Given the description of an element on the screen output the (x, y) to click on. 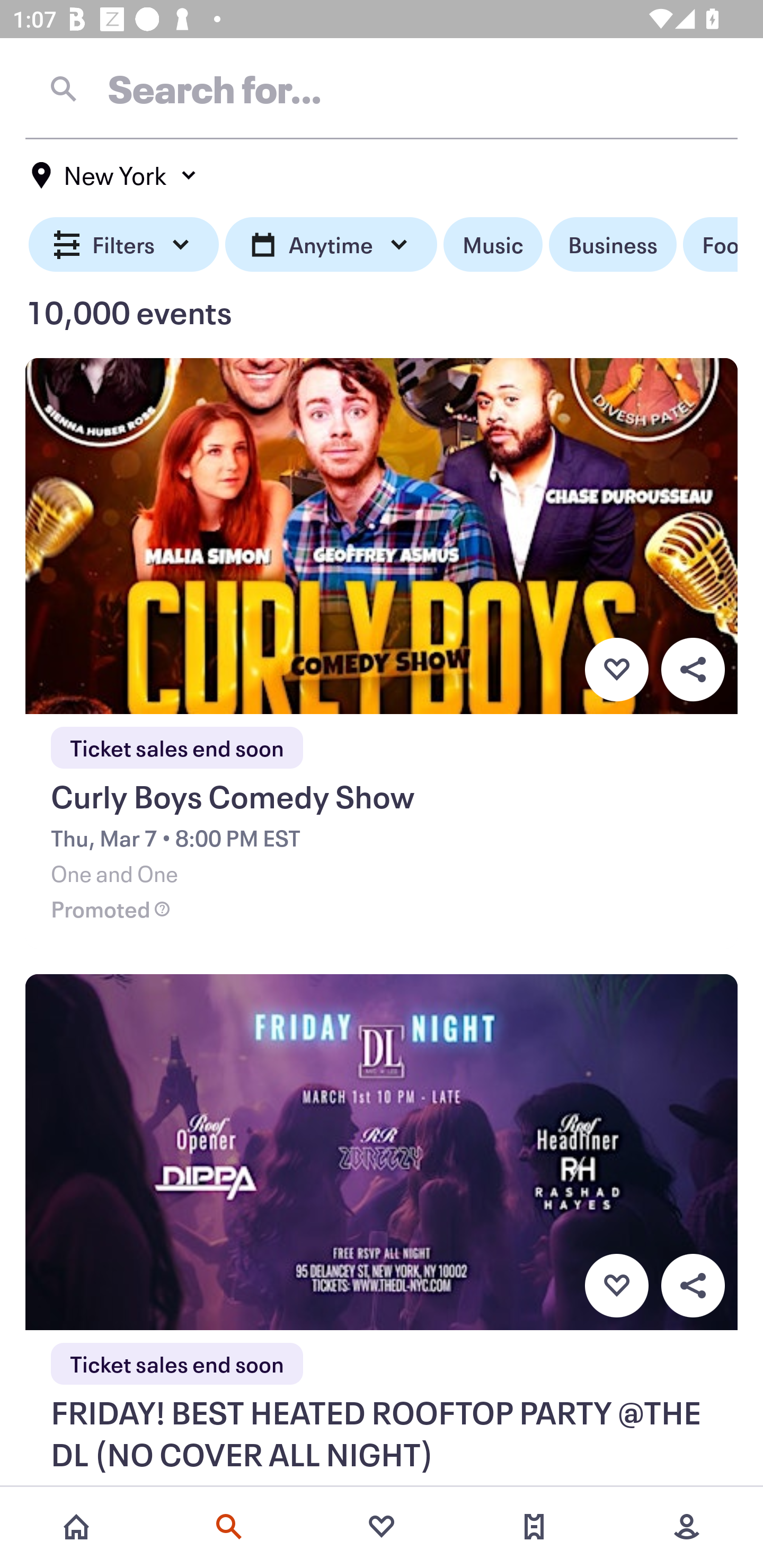
Search for… (381, 88)
New York (114, 175)
Filters (123, 244)
Anytime (331, 244)
Music (492, 244)
Business (612, 244)
Favorite button (616, 669)
Overflow menu button (692, 669)
Favorite button (616, 1285)
Overflow menu button (692, 1285)
Home (76, 1526)
Search events (228, 1526)
Favorites (381, 1526)
Tickets (533, 1526)
More (686, 1526)
